Given the description of an element on the screen output the (x, y) to click on. 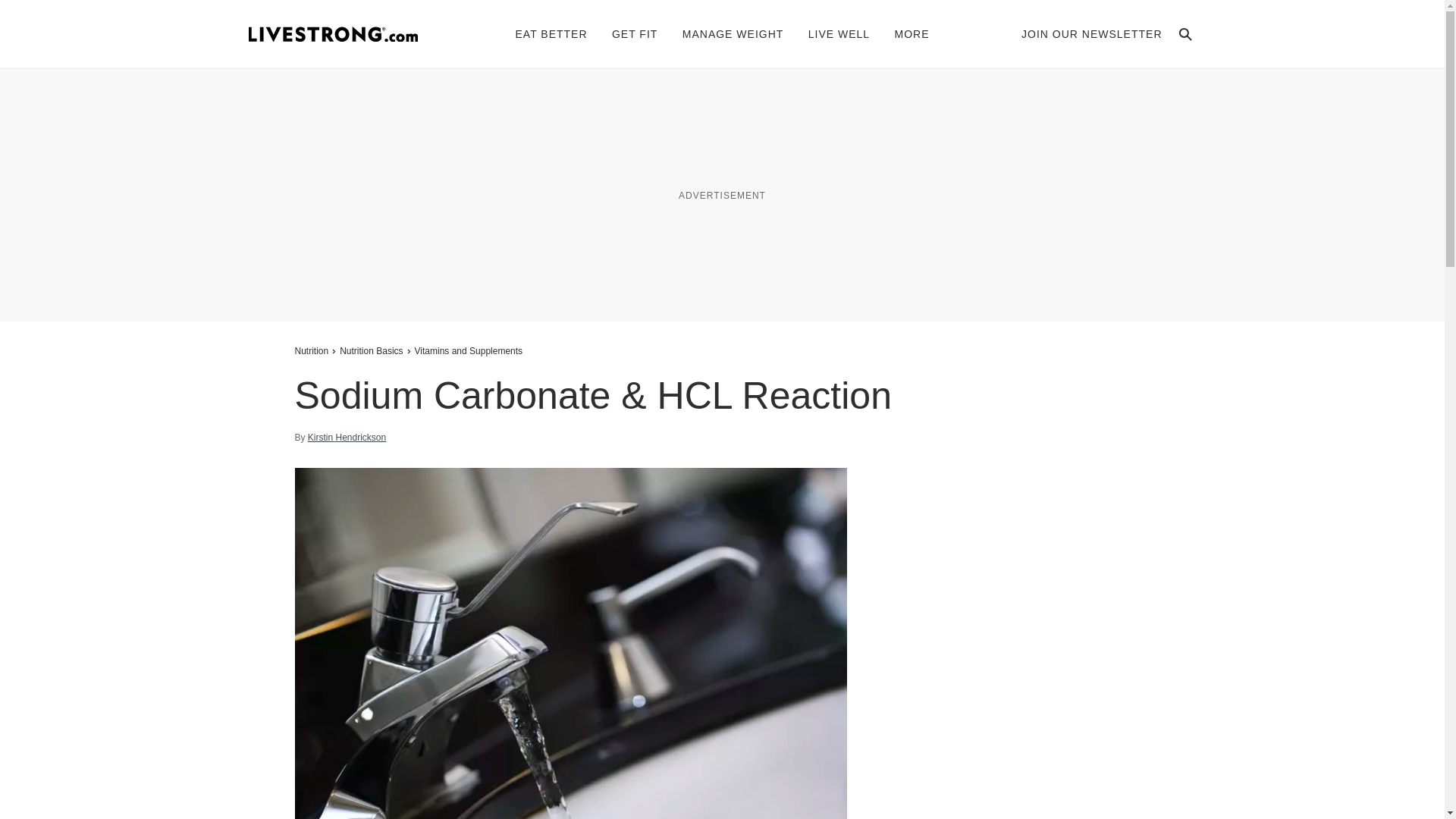
EAT BETTER (551, 33)
Nutrition (312, 350)
Kirstin Hendrickson (346, 437)
GET FIT (634, 33)
LIVE WELL (838, 33)
JOIN OUR NEWSLETTER (1091, 33)
Nutrition Basics (371, 350)
MANAGE WEIGHT (733, 33)
Vitamins and Supplements (468, 350)
